Given the description of an element on the screen output the (x, y) to click on. 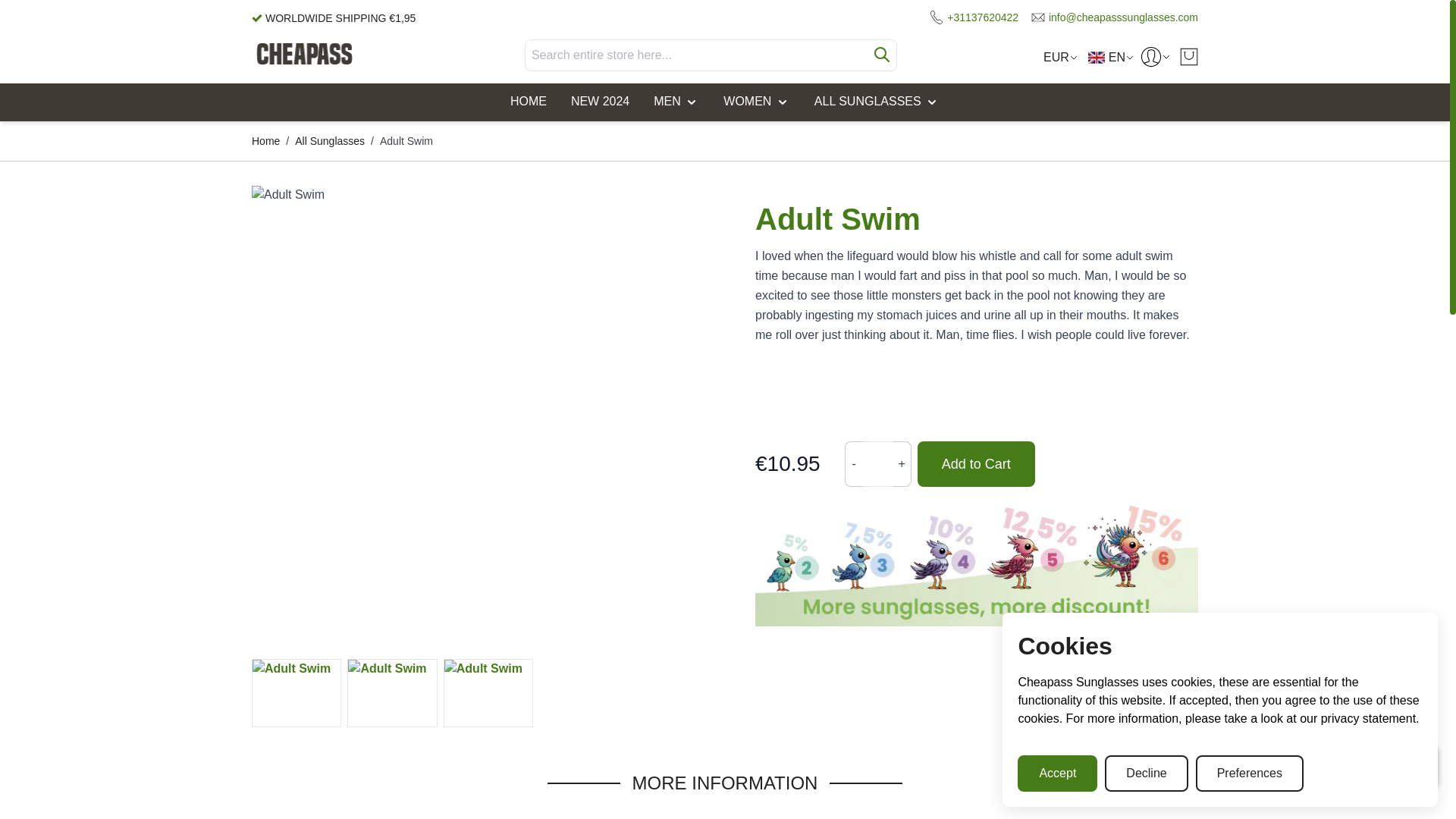
Women (756, 101)
New 2024 (599, 101)
Cheap Sunglasses (303, 54)
Men (675, 101)
HOME (528, 101)
Home (528, 101)
Cart (1188, 56)
Go to Home Page (265, 140)
ALL SUNGLASSES (876, 101)
EUR (1055, 57)
